Given the description of an element on the screen output the (x, y) to click on. 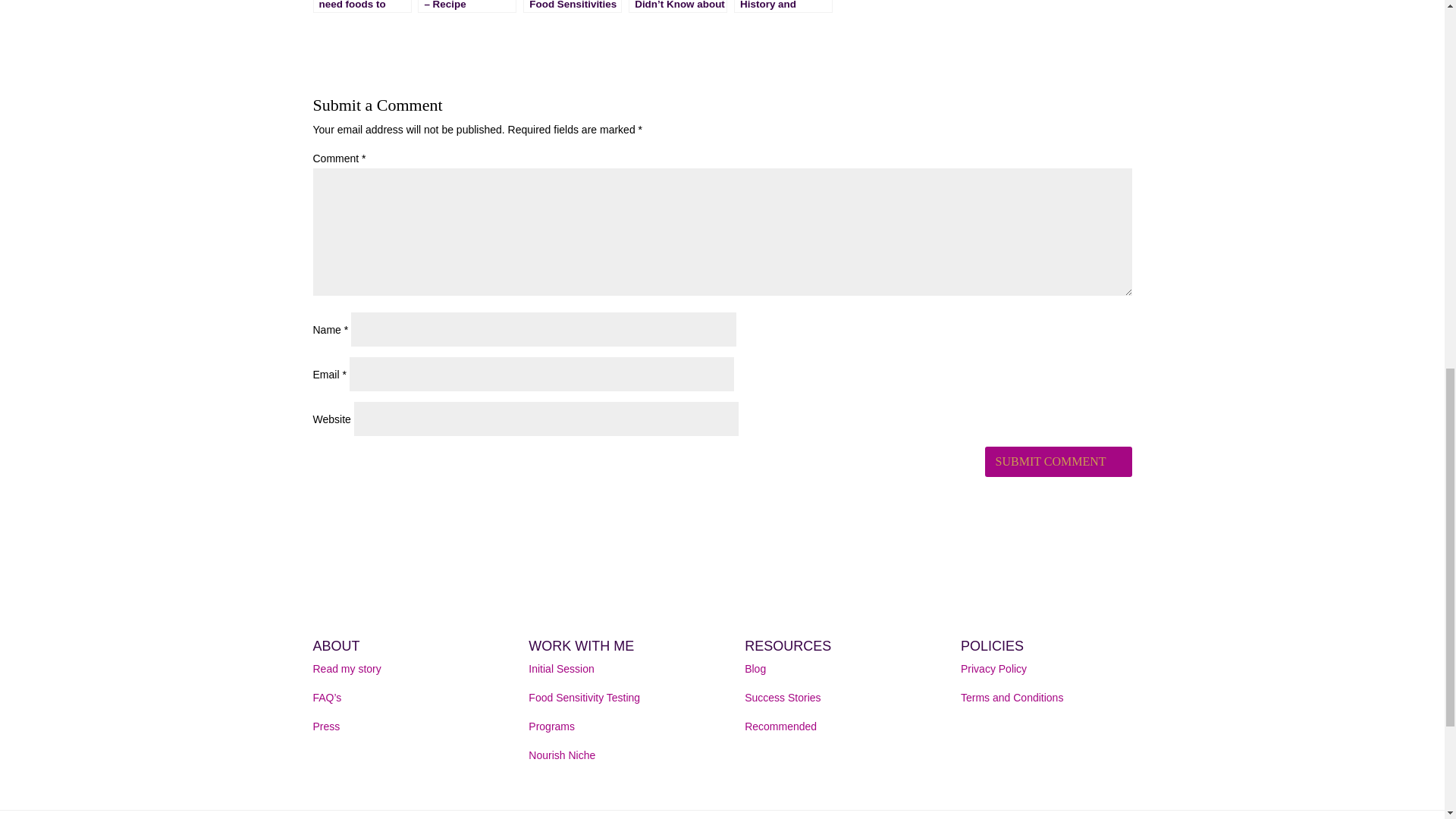
Submit Comment (1058, 461)
Sneakiness of Food Sensitivities (571, 6)
You mean you need foods to sustain energy during exercise? (361, 6)
You mean you need foods to sustain energy during exercise? (361, 6)
Sneakiness of Food Sensitivities (571, 6)
Submit Comment (1058, 461)
